Given the description of an element on the screen output the (x, y) to click on. 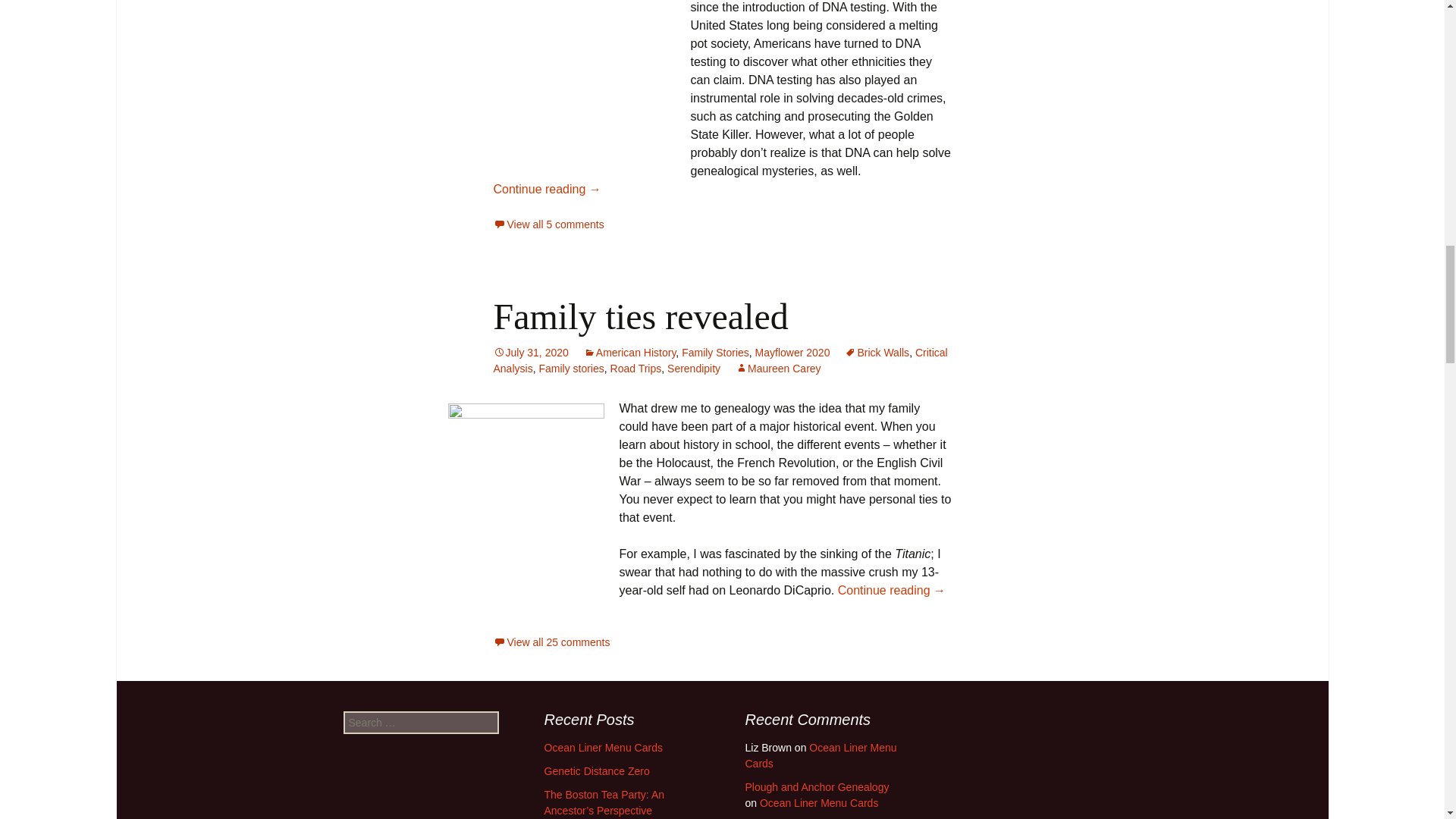
Permalink to Family ties revealed (530, 352)
View all posts by Maureen Carey (778, 368)
